Given the description of an element on the screen output the (x, y) to click on. 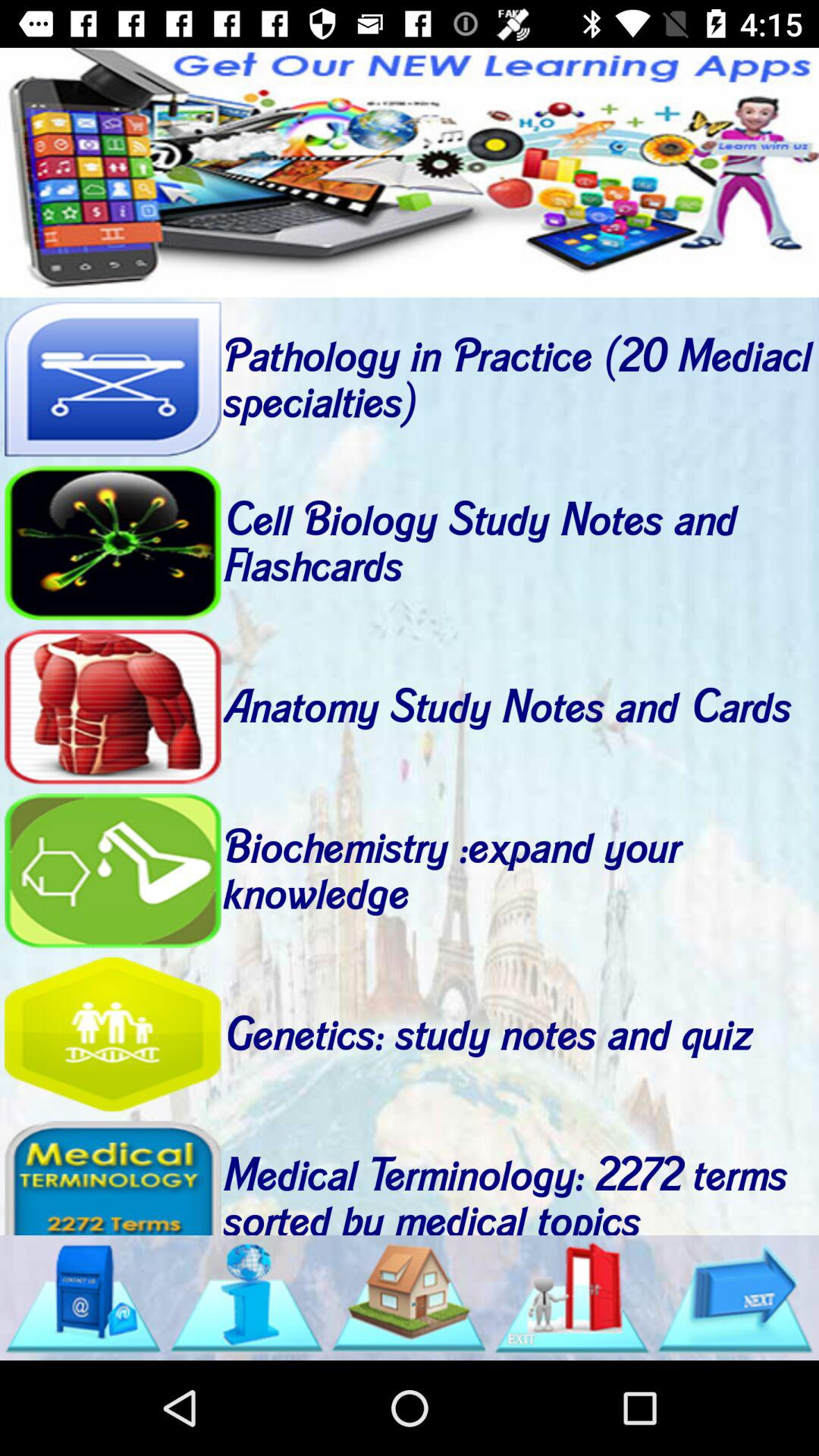
come back (112, 870)
